Given the description of an element on the screen output the (x, y) to click on. 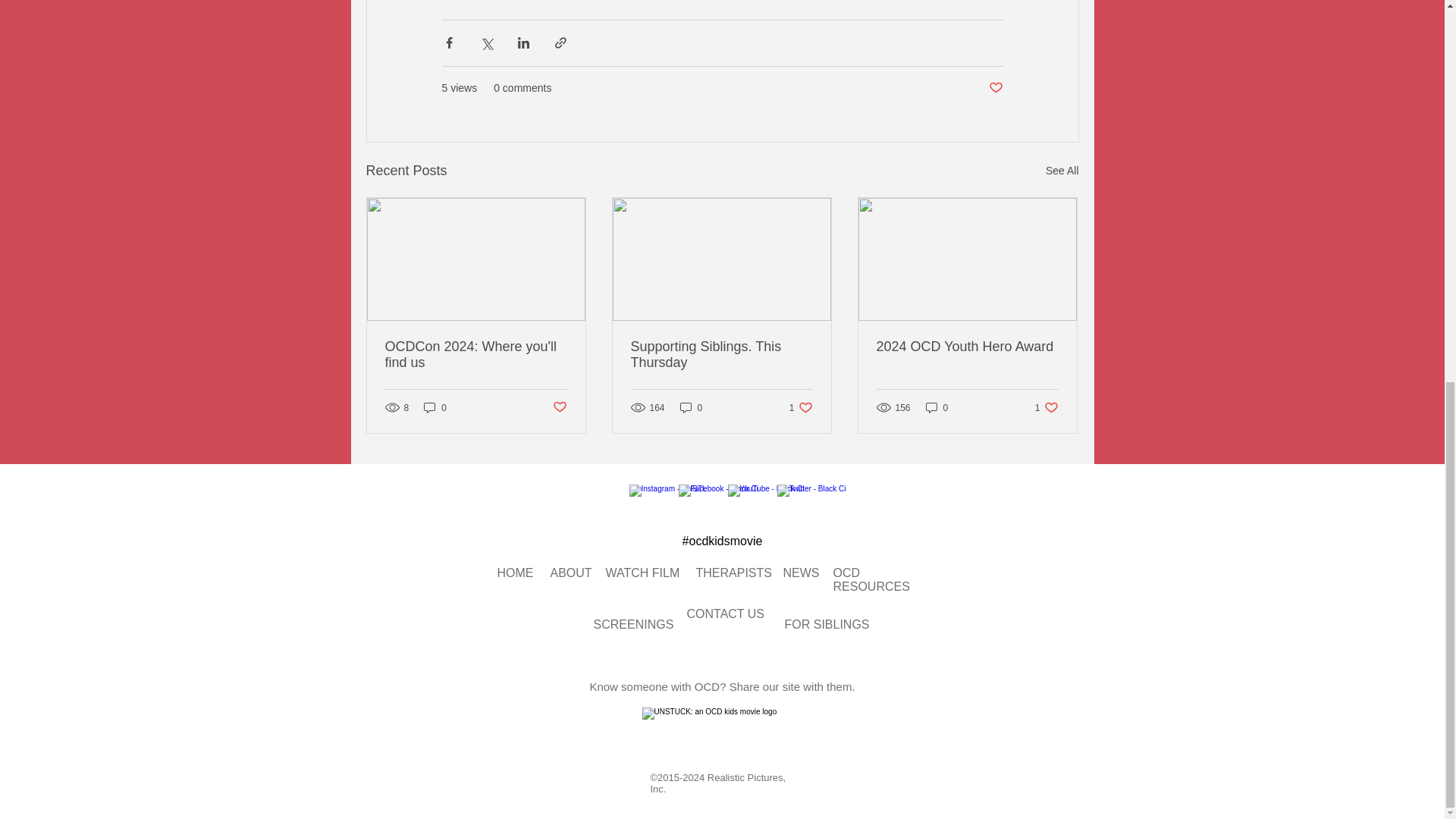
2024 OCD Youth Hero Award (967, 346)
Post not marked as liked (995, 88)
HOME (800, 407)
Supporting Siblings. This Thursday (515, 572)
See All (721, 355)
0 (1061, 170)
ABOUT (691, 407)
Post not marked as liked (571, 572)
WATCH FILM (558, 407)
